Given the description of an element on the screen output the (x, y) to click on. 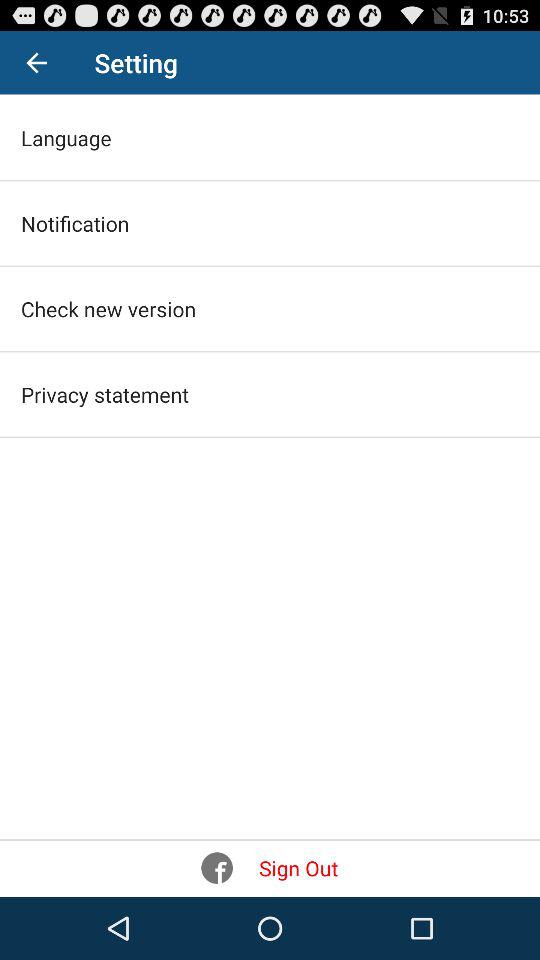
select the icon above the notification icon (66, 137)
